Given the description of an element on the screen output the (x, y) to click on. 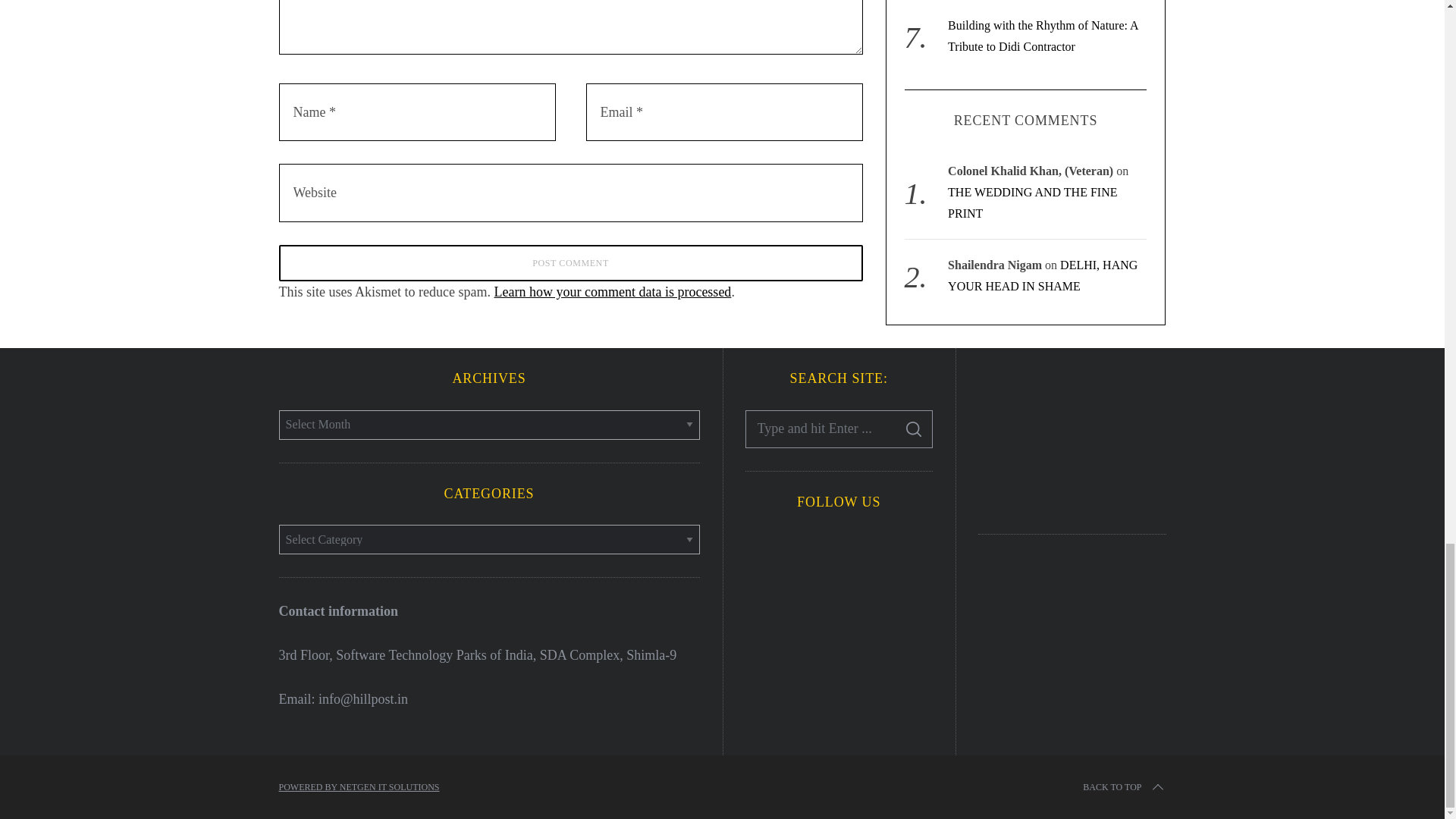
Post Comment (571, 262)
PepupHome Best Home improvement blog 2020 (1072, 438)
SEARCH (914, 428)
Learn how your comment data is processed (611, 291)
Post Comment (571, 262)
